Given the description of an element on the screen output the (x, y) to click on. 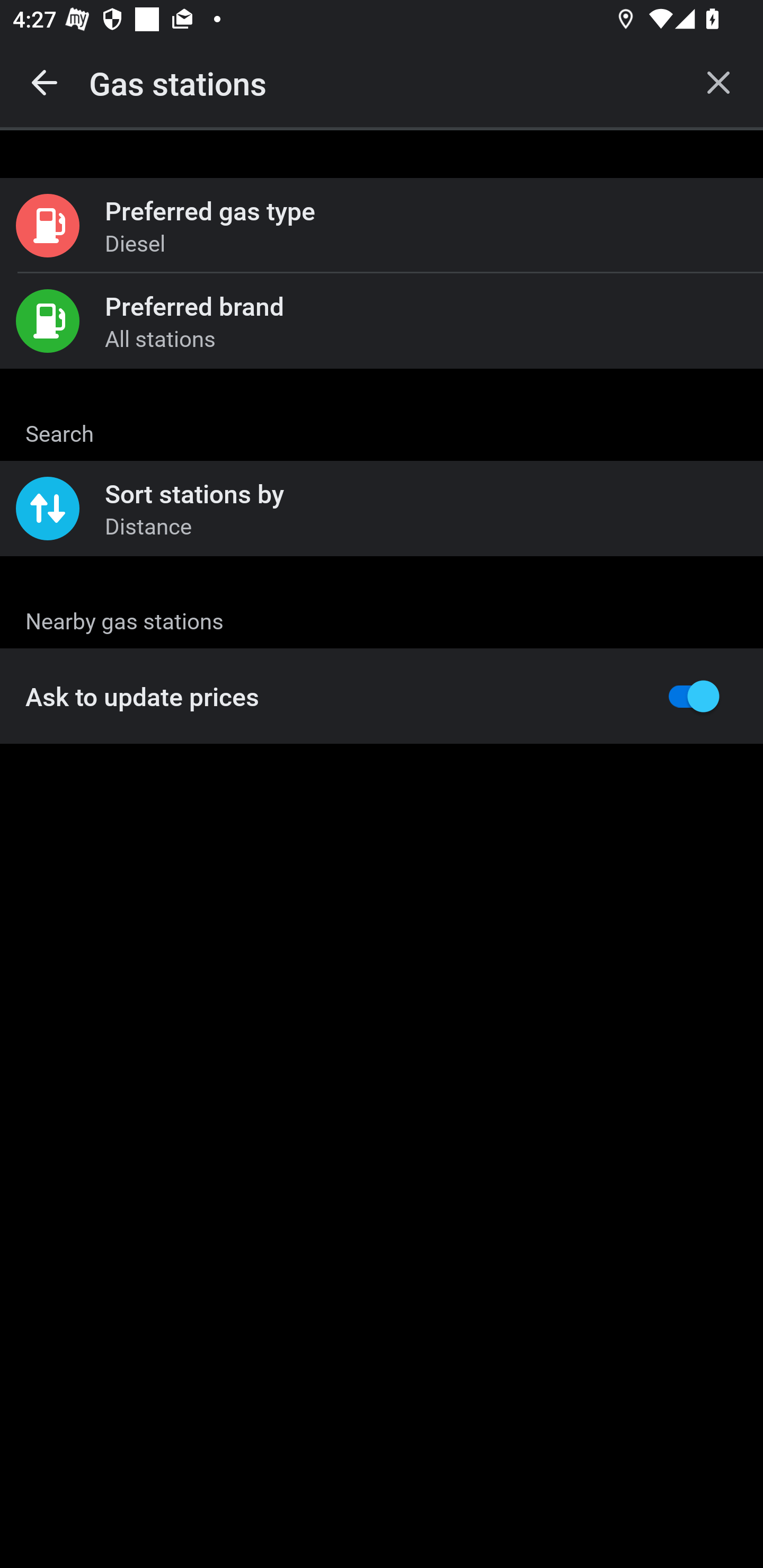
Preferred gas type Diesel (381, 225)
Preferred brand All stations (381, 320)
ACTION_CELL_ICON Plan a drive ACTION_CELL_TEXT (381, 438)
Sort stations by Distance (381, 508)
ACTION_CELL_ICON Settings ACTION_CELL_TEXT (381, 620)
Ask to update prices (381, 696)
